Given the description of an element on the screen output the (x, y) to click on. 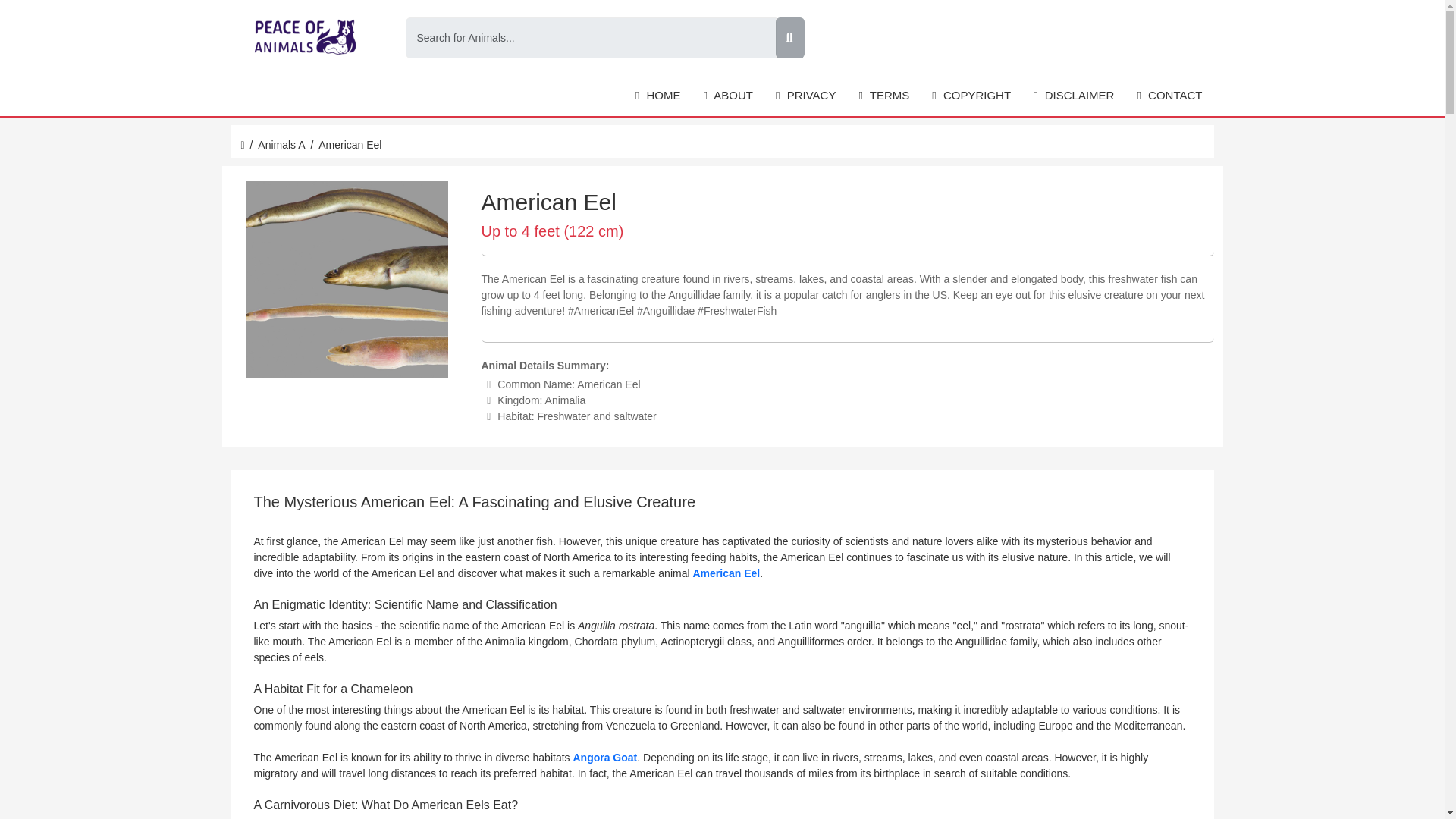
COPYRIGHT (971, 96)
Animals A (280, 143)
TERMS (883, 96)
HOME (658, 96)
American Eel (726, 573)
DISCLAIMER (1073, 96)
Angora Goat (604, 757)
CONTACT (1168, 96)
Contact (1168, 96)
Copyright (971, 96)
